Given the description of an element on the screen output the (x, y) to click on. 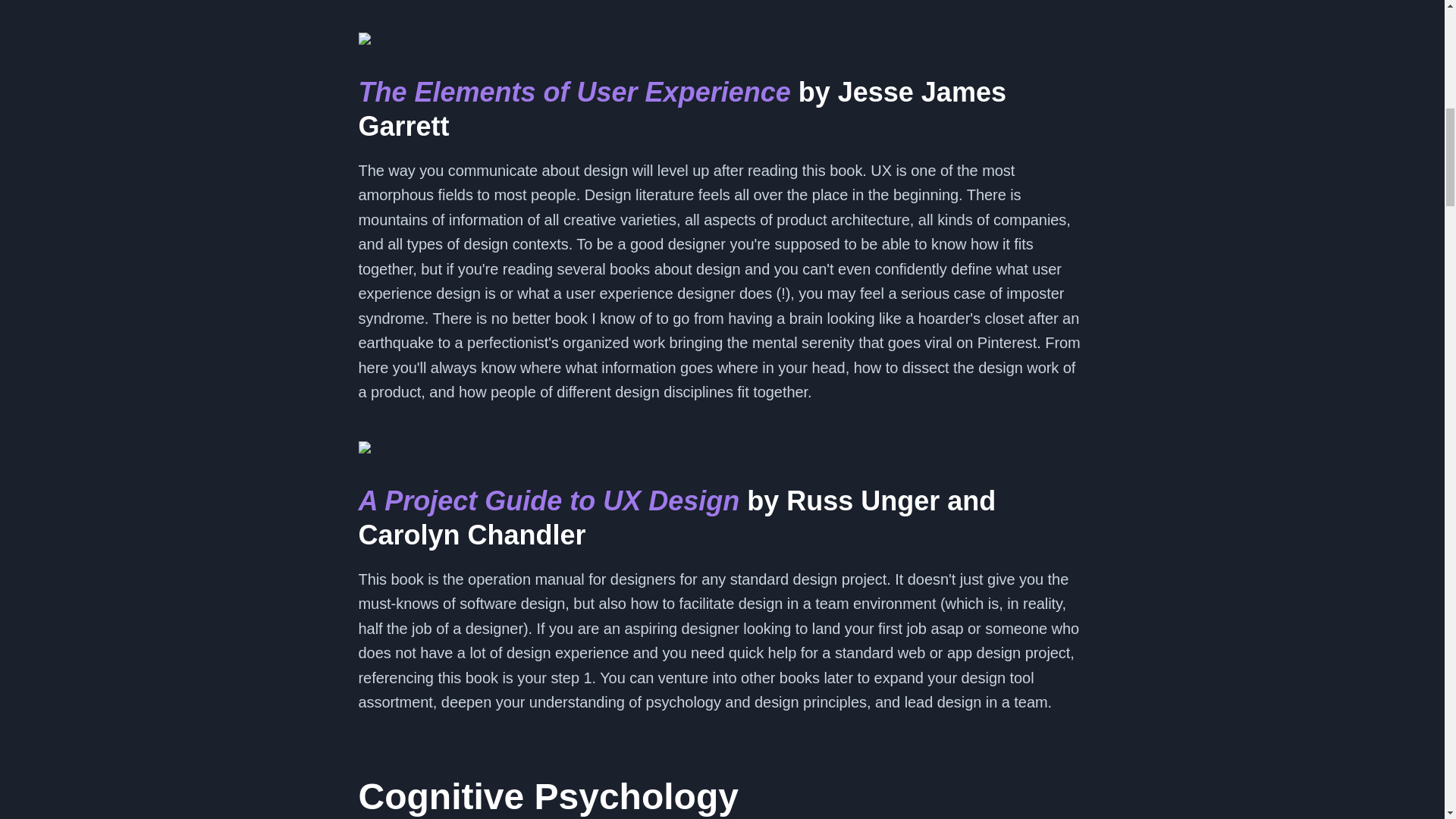
The Elements of User Experience (574, 91)
A Project Guide to UX Design (548, 500)
